Given the description of an element on the screen output the (x, y) to click on. 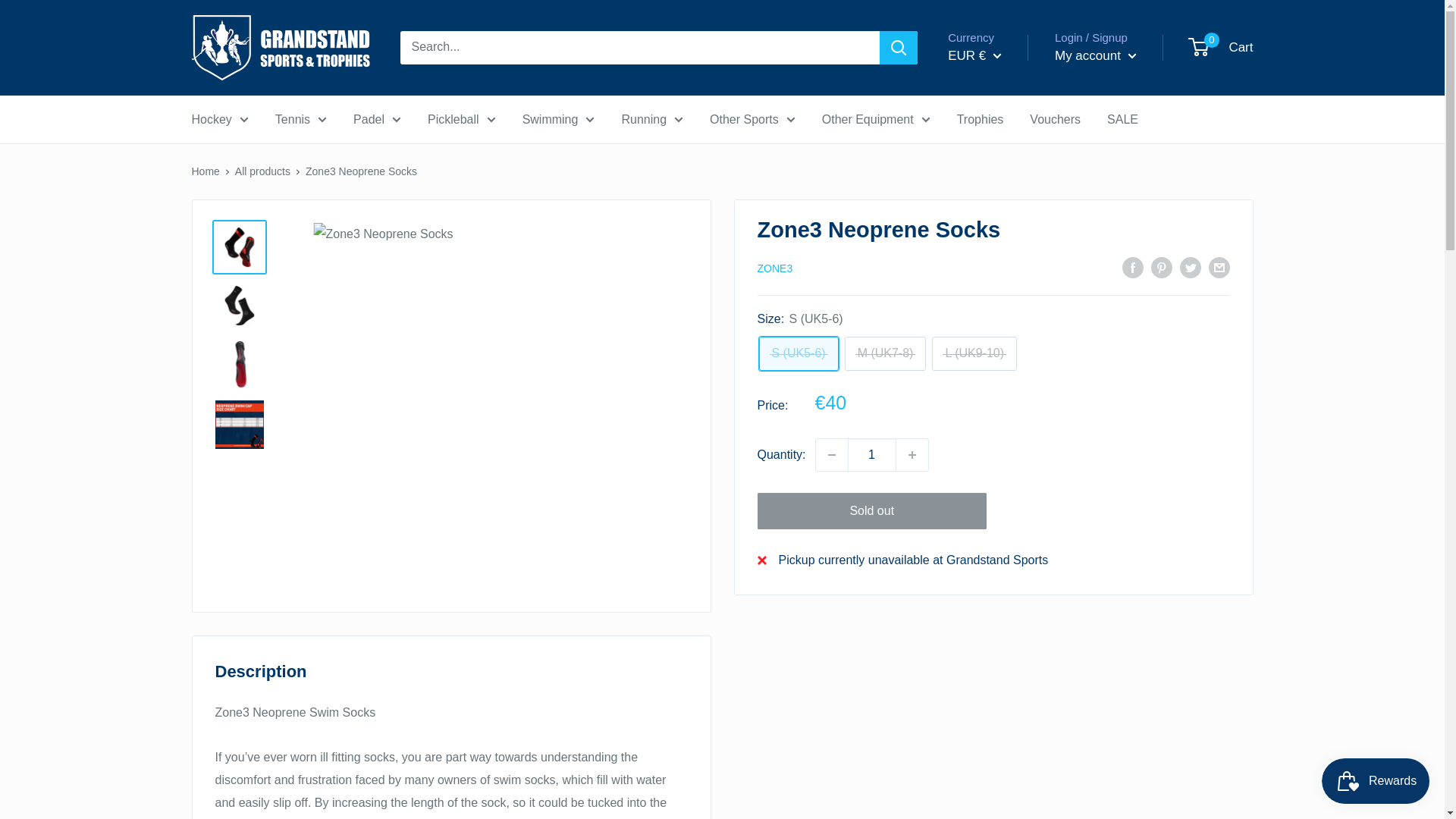
1 (871, 454)
Decrease quantity by 1 (831, 454)
Smile.io Rewards Program Launcher (1375, 780)
Increase quantity by 1 (912, 454)
